Given the description of an element on the screen output the (x, y) to click on. 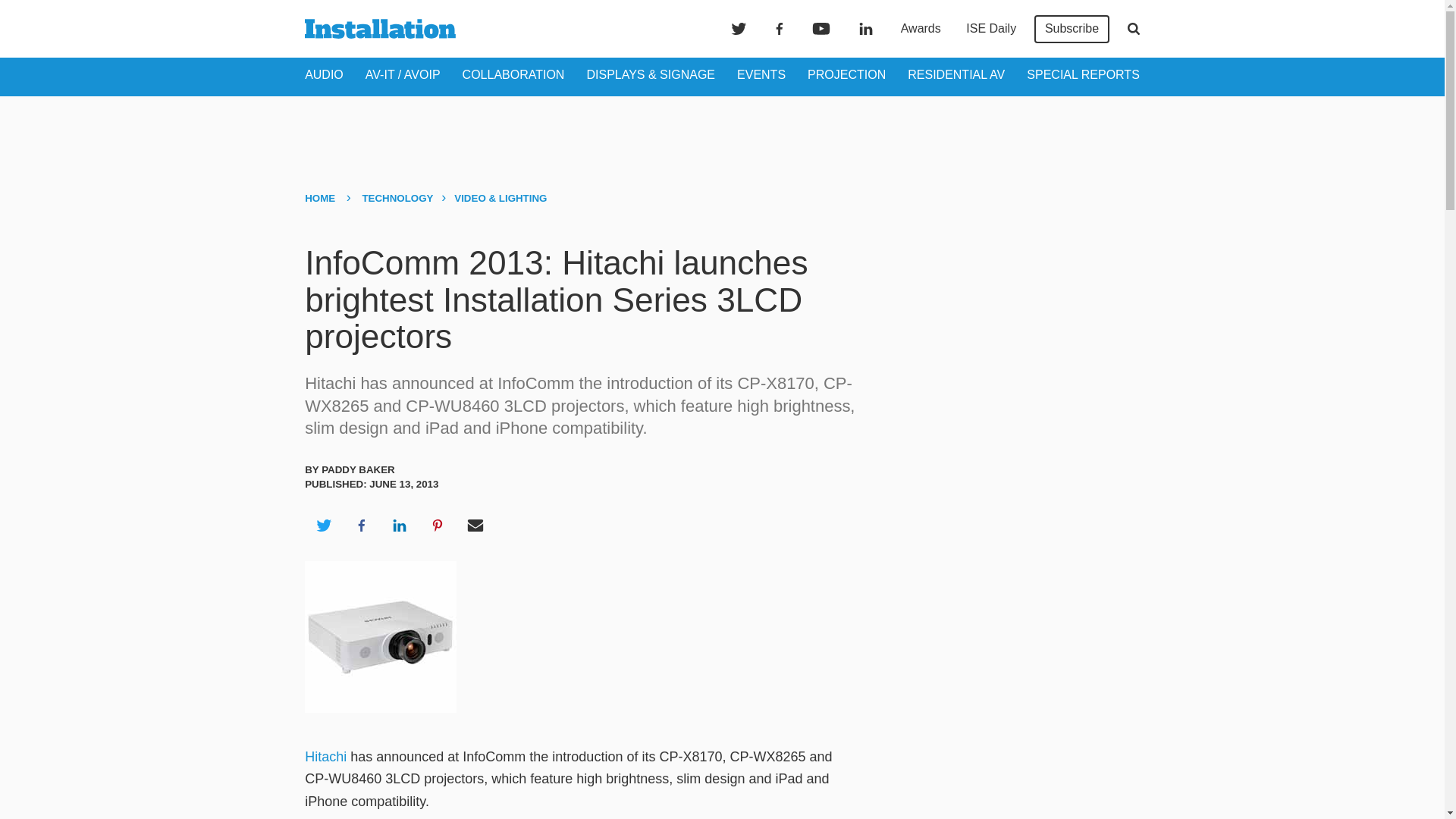
ISE Daily (990, 29)
COLLABORATION (513, 74)
Paddy Baker's Author Profile (357, 469)
Share via Email (476, 525)
Share on Pinterest (438, 525)
Share on Twitter (323, 525)
Awards (921, 29)
AUDIO (323, 74)
Subscribe (1071, 29)
Share on Facebook (361, 525)
